Given the description of an element on the screen output the (x, y) to click on. 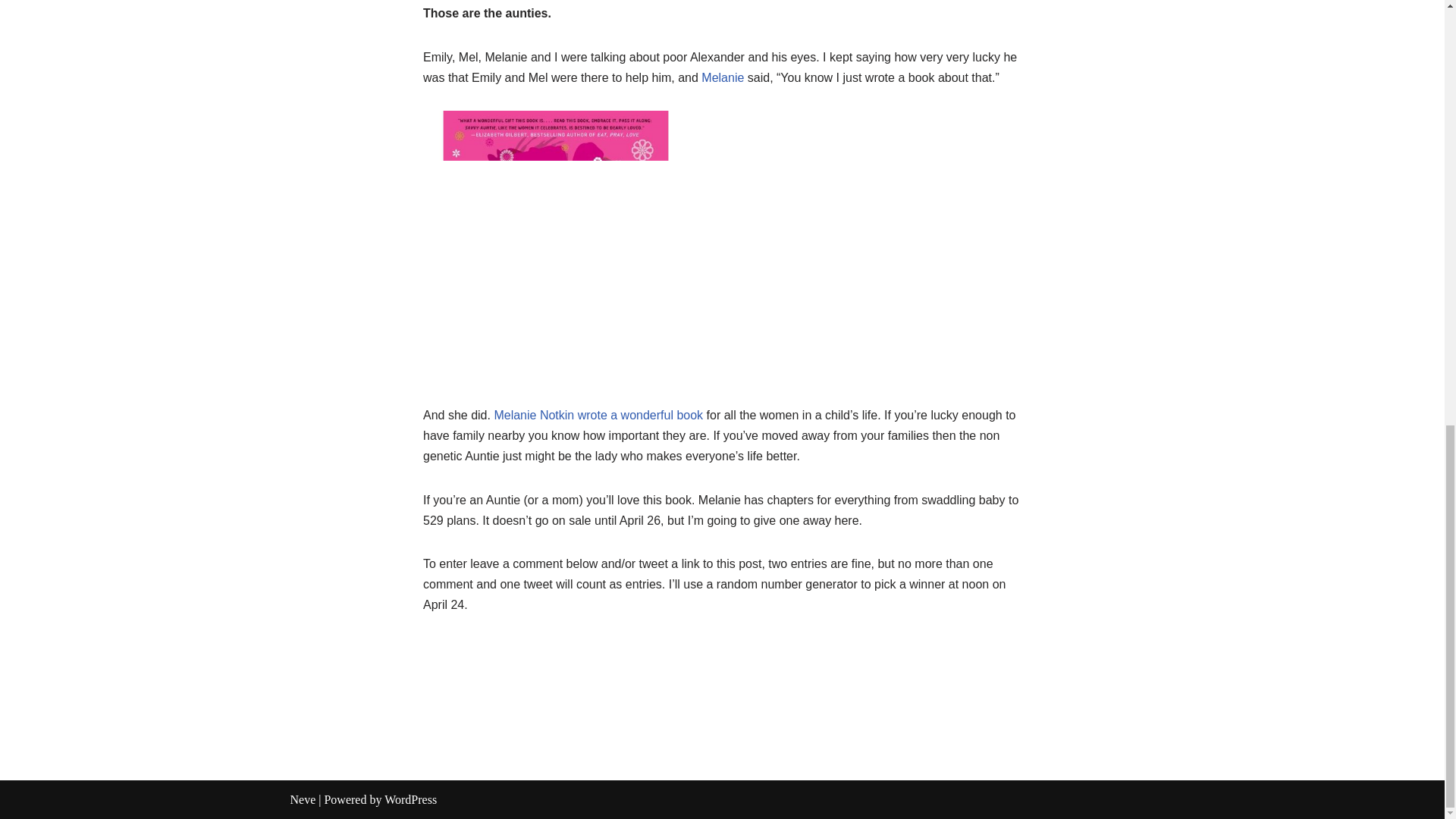
The Savvy Auntie (723, 77)
WordPress (410, 799)
Melanie (723, 77)
Savvy Auntie Book on Amazon (596, 414)
Neve (302, 799)
savvy auntie book (555, 242)
Melanie Notkin wrote a wonderful book (596, 414)
